Given the description of an element on the screen output the (x, y) to click on. 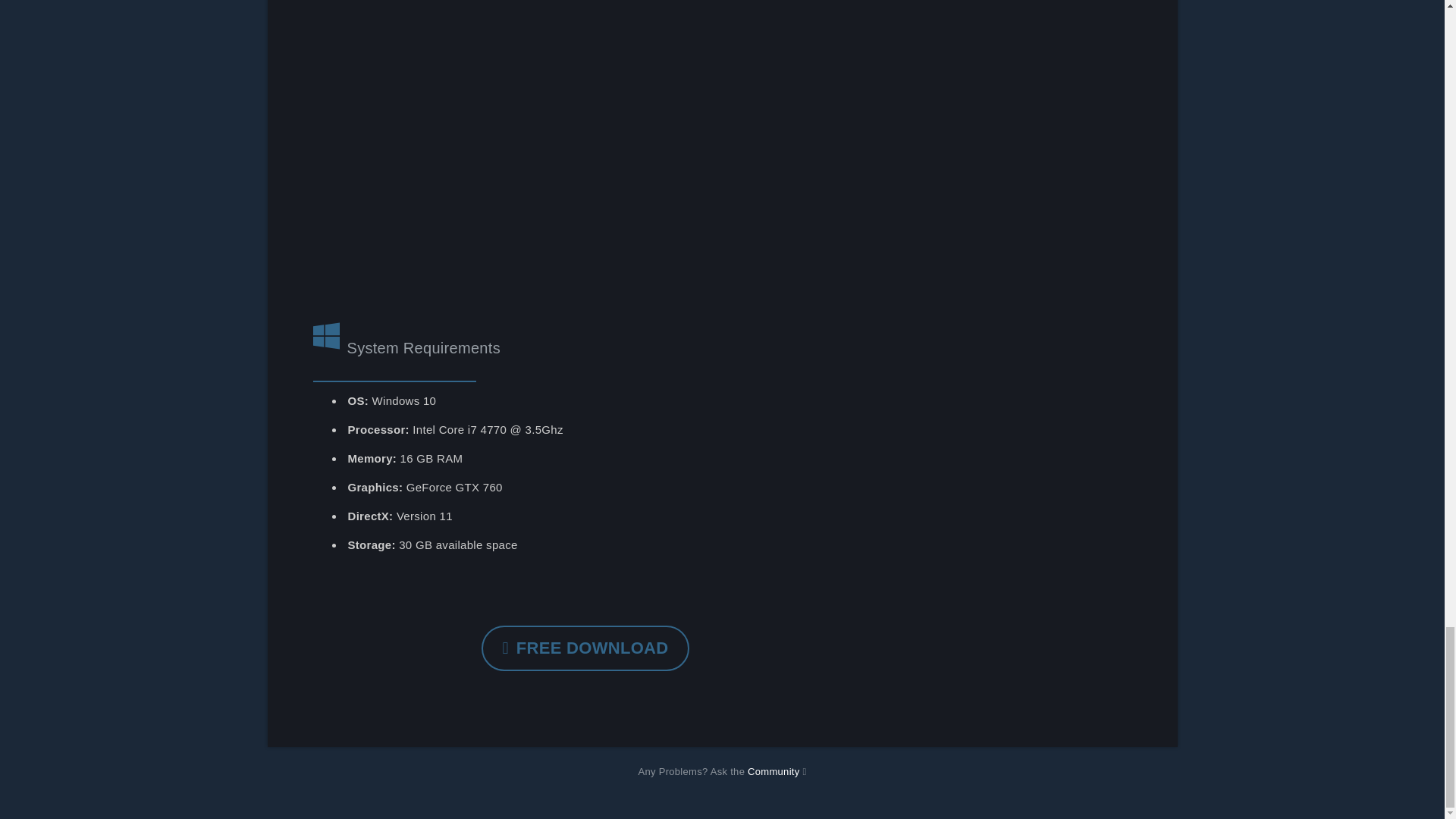
FREE DOWNLOAD (584, 647)
